Given the description of an element on the screen output the (x, y) to click on. 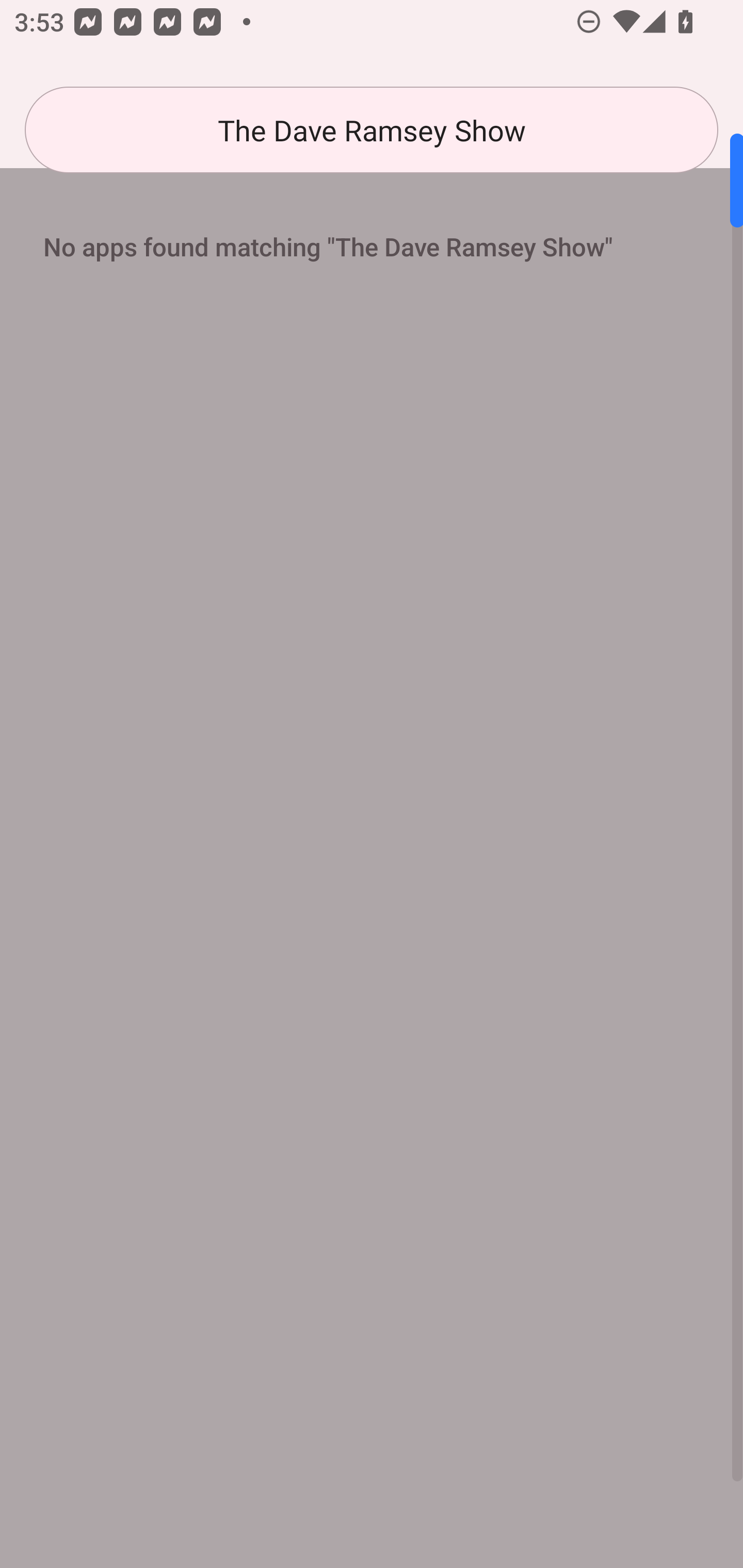
The Dave Ramsey Show (371, 130)
